Given the description of an element on the screen output the (x, y) to click on. 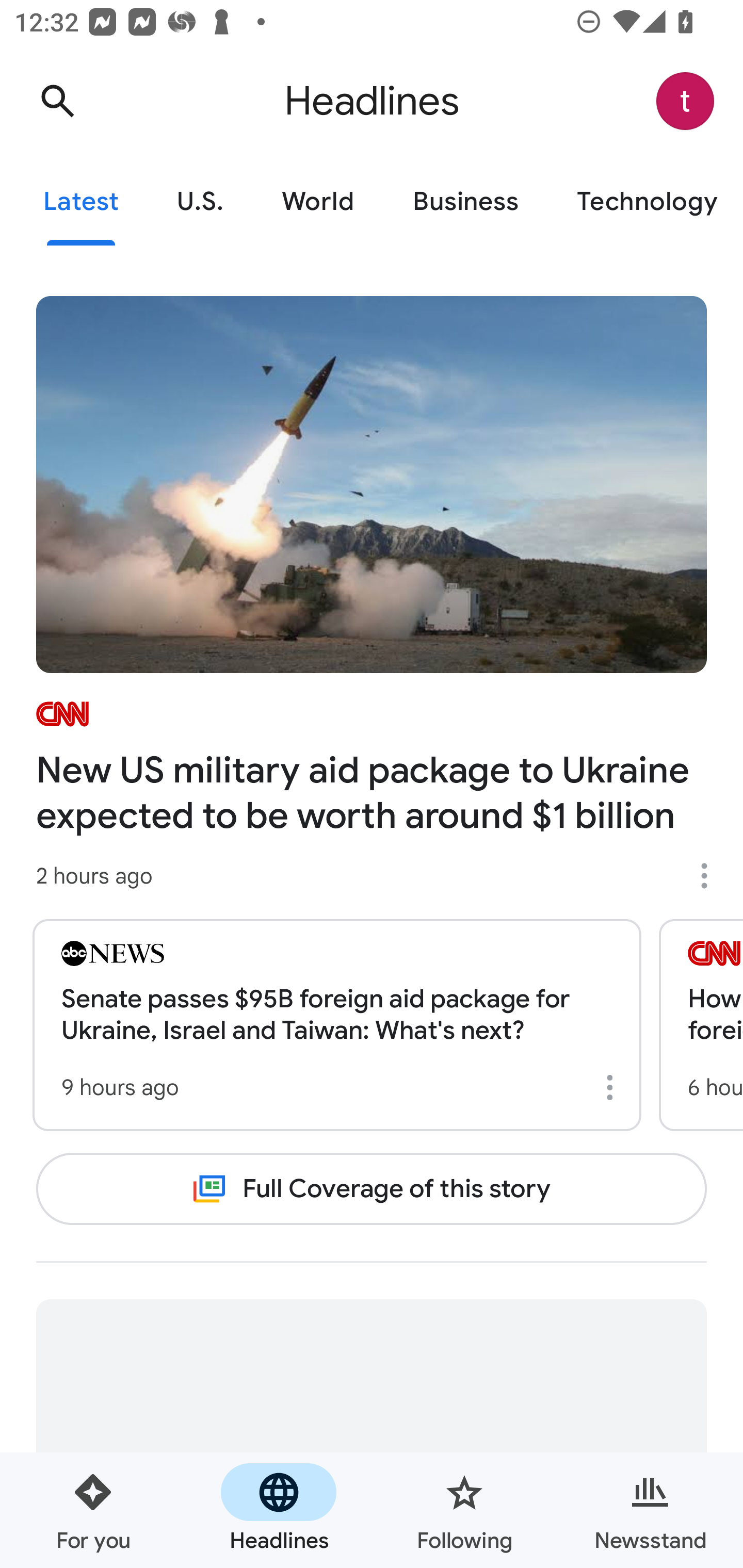
Search (57, 100)
U.S. (199, 202)
World (317, 202)
Business (465, 202)
Technology (645, 202)
More options (711, 875)
More options (613, 1086)
Full Coverage of this story (371, 1188)
For you (92, 1509)
Headlines (278, 1509)
Following (464, 1509)
Newsstand (650, 1509)
